Given the description of an element on the screen output the (x, y) to click on. 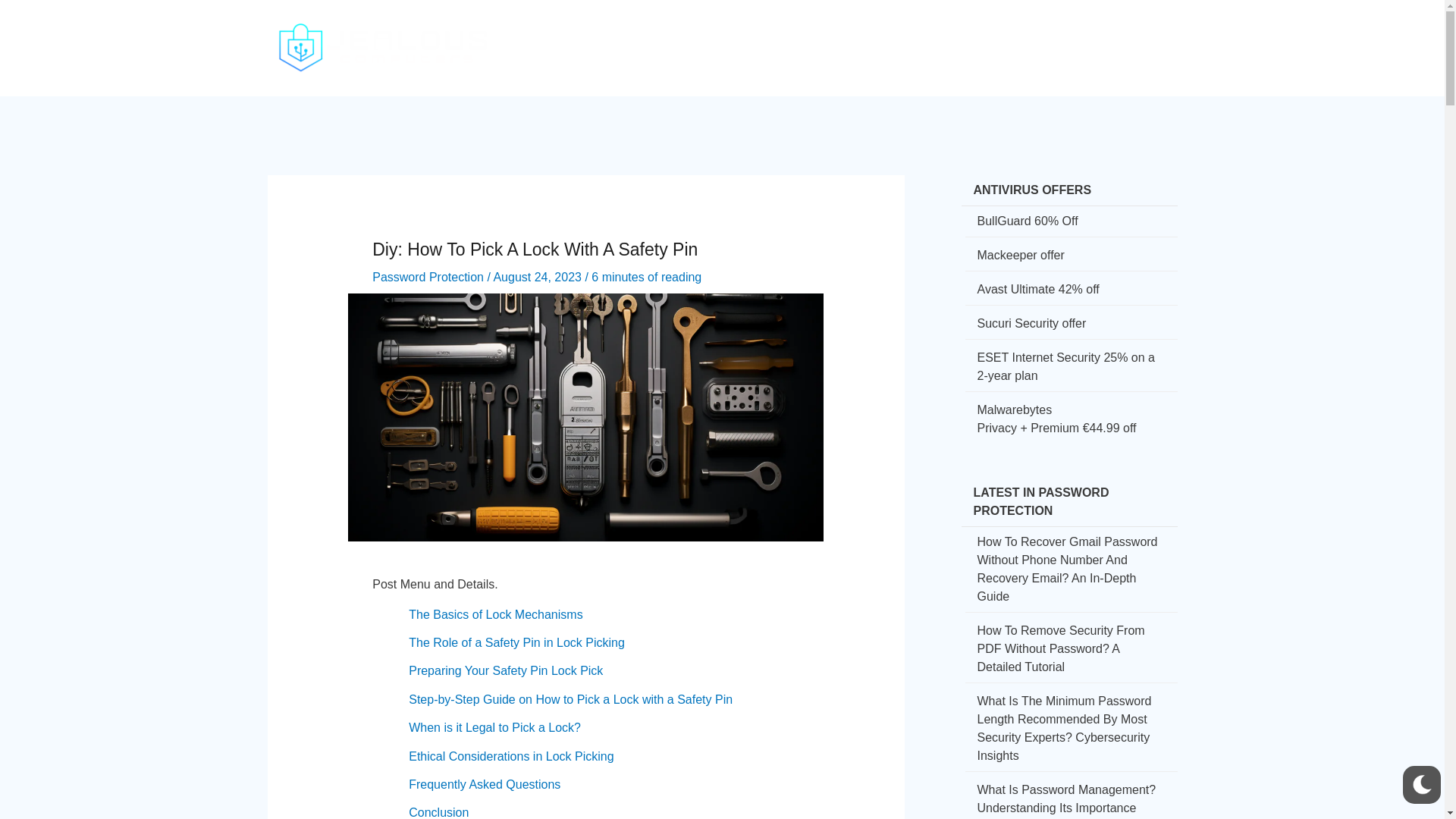
Cyber Security (713, 35)
Password Protection (427, 277)
When is it Legal to Pick a Lock? (494, 727)
Misc (1122, 35)
Finances (929, 35)
The Basics of Lock Mechanisms (495, 614)
10 Best (1064, 35)
How-To (802, 35)
Conclusion (438, 812)
Social (863, 35)
The Role of a Safety Pin in Lock Picking (516, 642)
Frequently Asked Questions (484, 784)
Search (1162, 37)
Step-by-Step Guide on How to Pick a Lock with a Safety Pin (570, 698)
Gaming (999, 35)
